Given the description of an element on the screen output the (x, y) to click on. 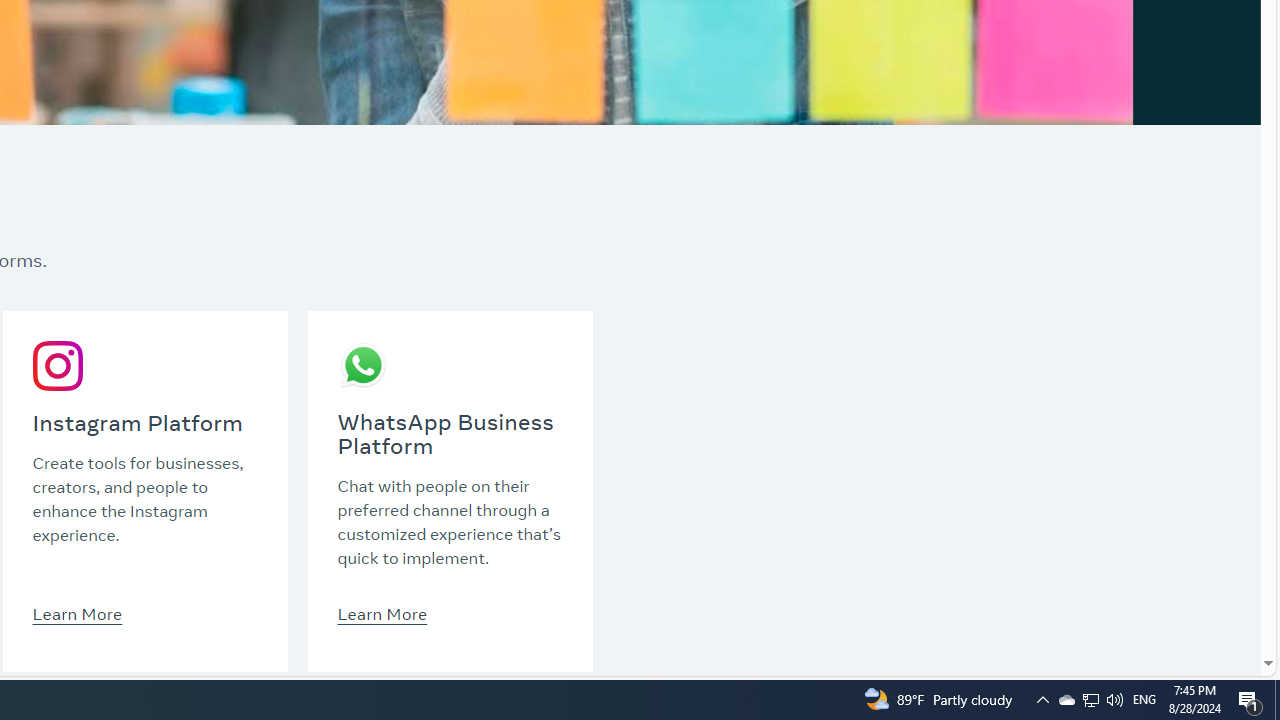
Learn More (381, 613)
